Given the description of an element on the screen output the (x, y) to click on. 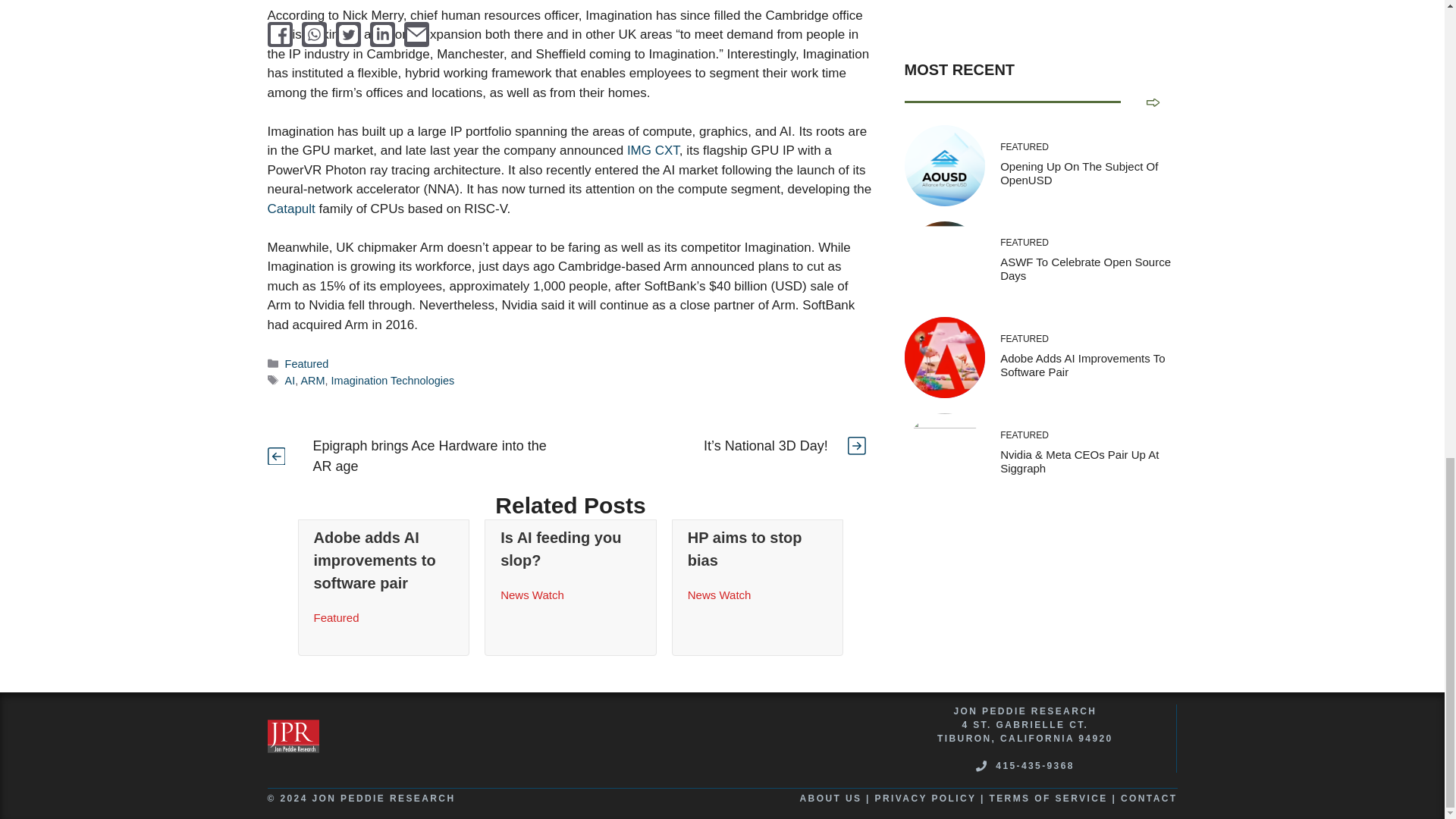
IMG CXT (653, 150)
Imagination Technologies (392, 380)
Epigraph brings Ace Hardware into the AR age (429, 456)
Catapult (290, 208)
Featured (307, 363)
ARM (311, 380)
